Given the description of an element on the screen output the (x, y) to click on. 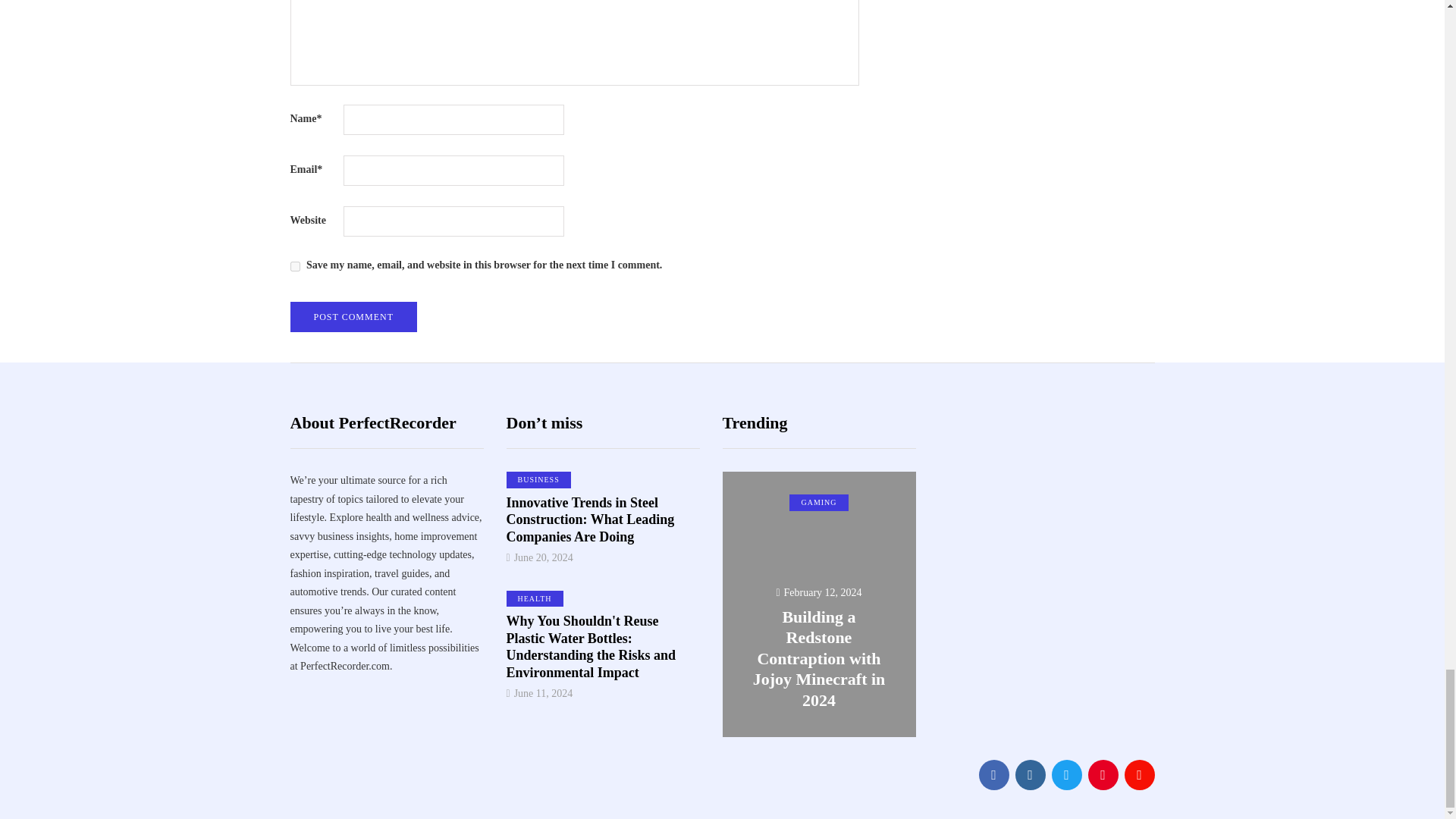
Post comment (352, 317)
yes (294, 266)
